Given the description of an element on the screen output the (x, y) to click on. 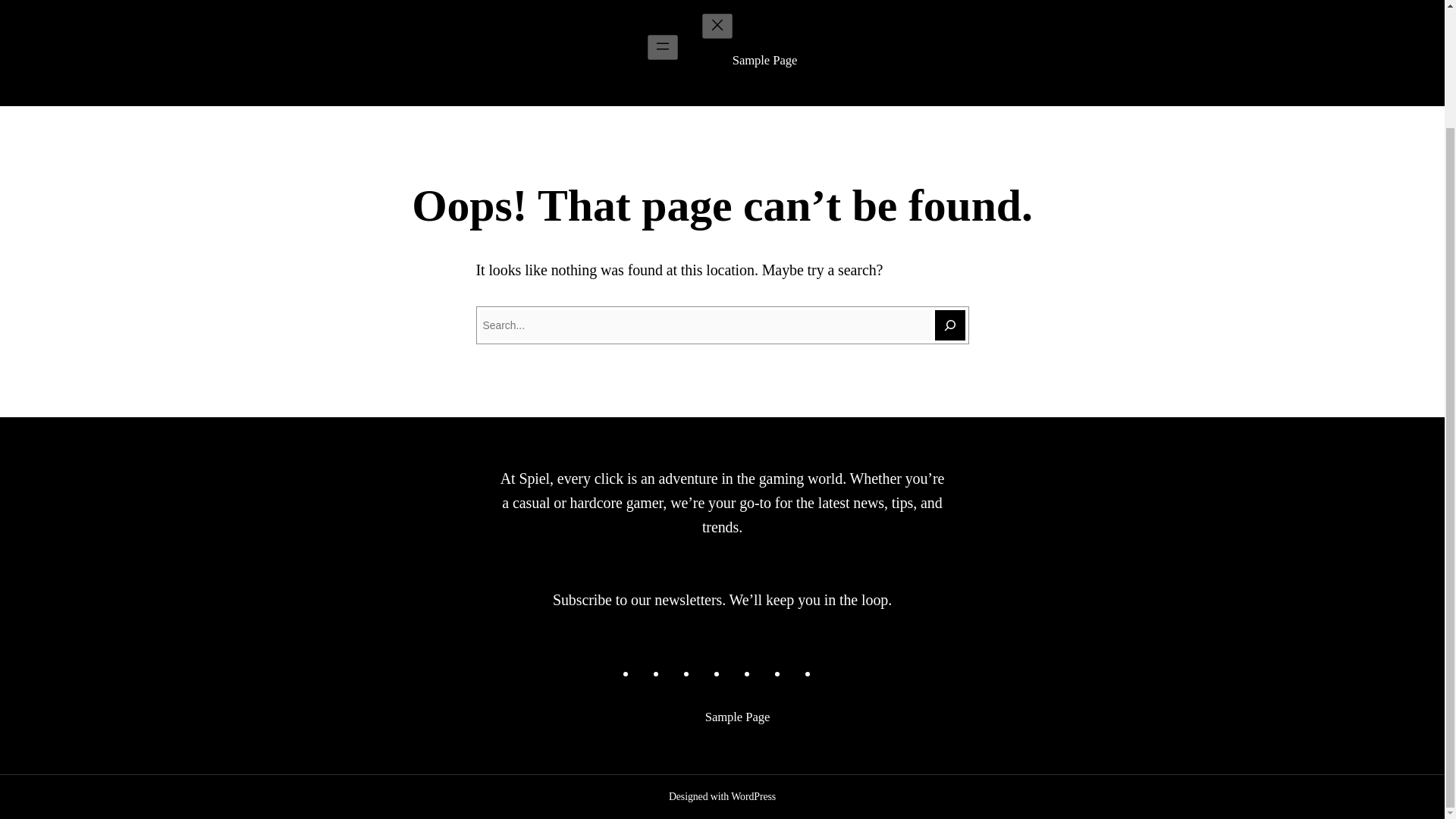
Sample Page (737, 716)
YouTube (767, 673)
Sample Page (764, 60)
Mastodon (736, 673)
X (797, 673)
Facebook (646, 673)
Instagram (675, 673)
Twitch (827, 673)
TikTok (706, 673)
WordPress (753, 796)
